Given the description of an element on the screen output the (x, y) to click on. 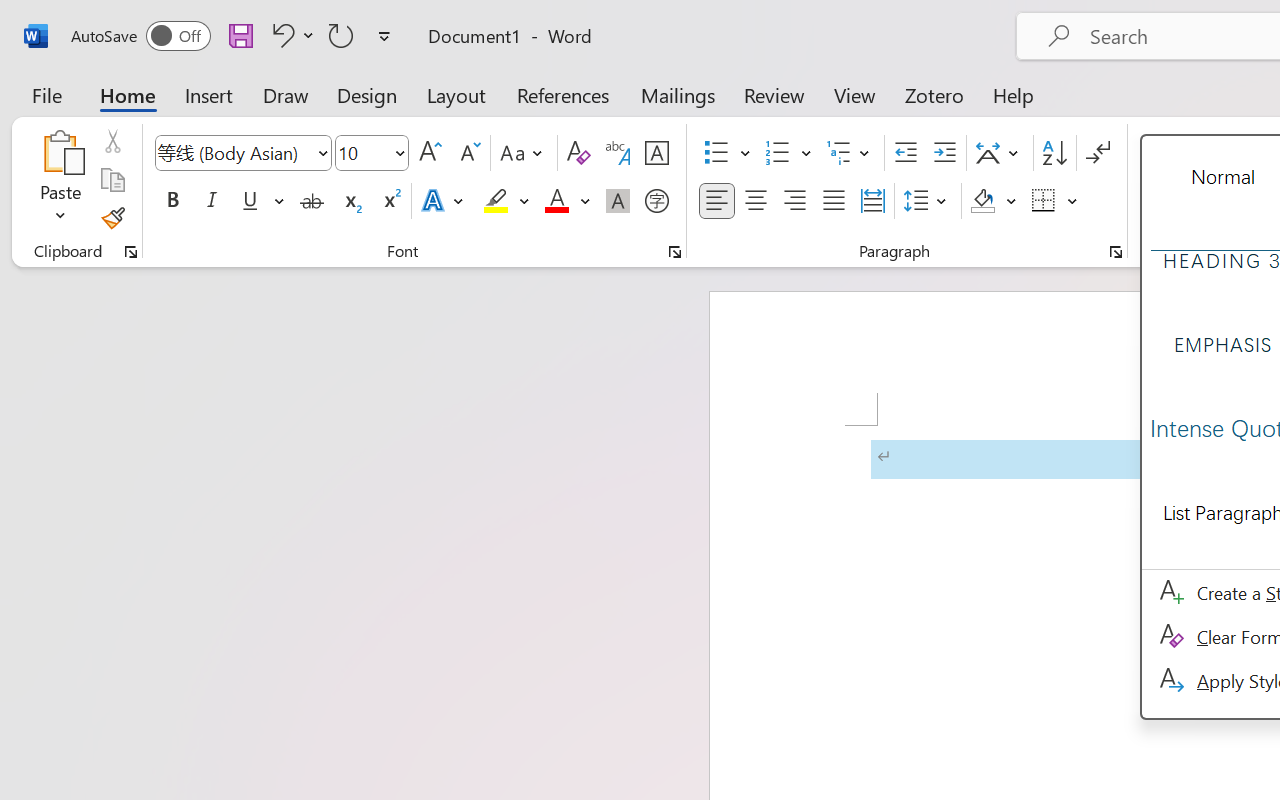
Shading No Color (982, 201)
Undo Apply Quick Style (290, 35)
